Given the description of an element on the screen output the (x, y) to click on. 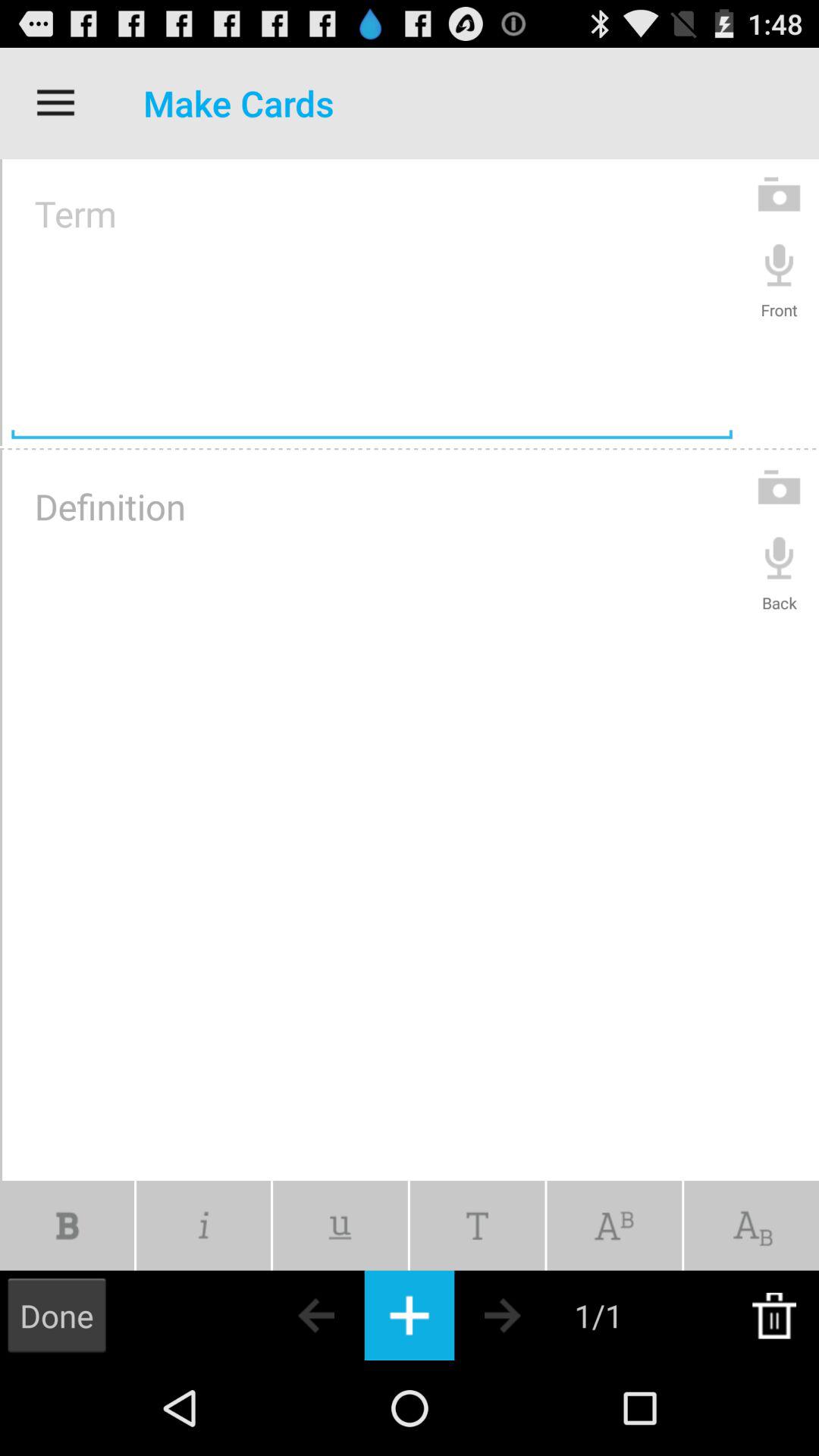
format as superscript (614, 1225)
